Given the description of an element on the screen output the (x, y) to click on. 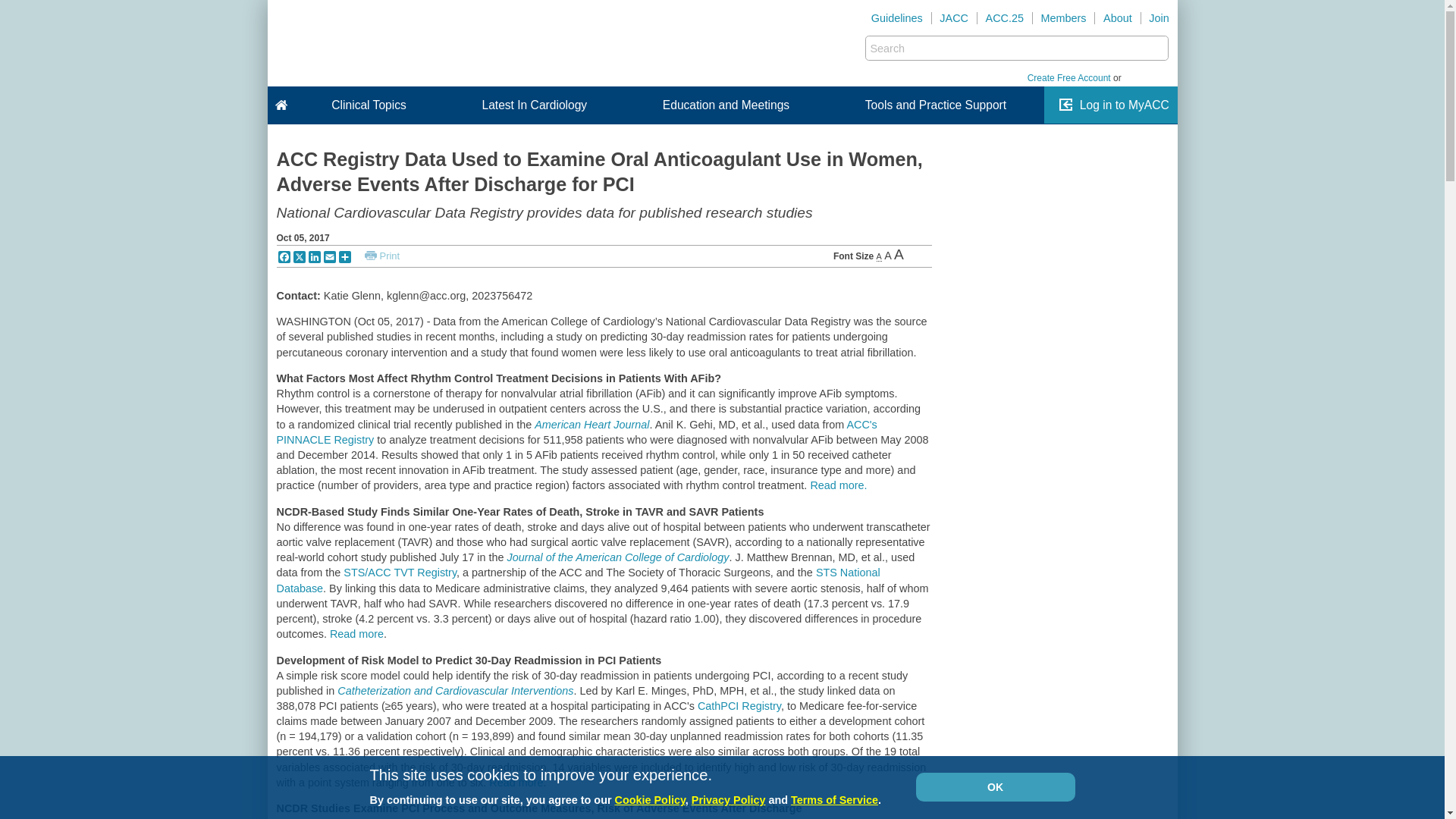
JACC.org (953, 18)
Members (1063, 18)
Create Free Account (1068, 77)
ACC Annual Scientific Session (1004, 18)
Log in to MyACC (1124, 104)
Clinical Topics (368, 104)
Latest In Cardiology (533, 104)
ACC.25 (1004, 18)
Join (1158, 18)
Guidelines (897, 18)
About (1117, 18)
JACC (953, 18)
Insert a query. Press enter to send (1007, 47)
